Given the description of an element on the screen output the (x, y) to click on. 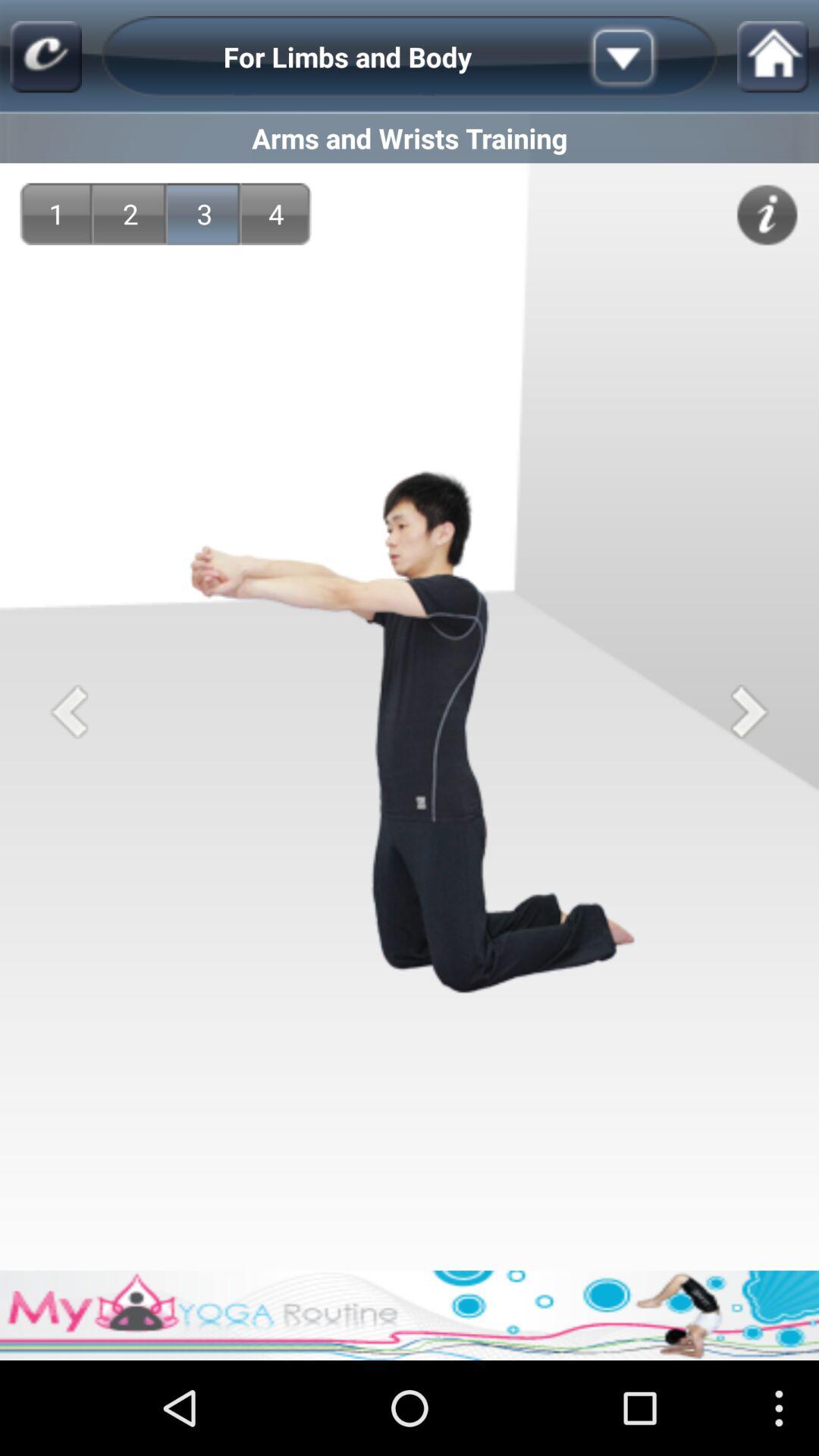
click item on the left (68, 711)
